Given the description of an element on the screen output the (x, y) to click on. 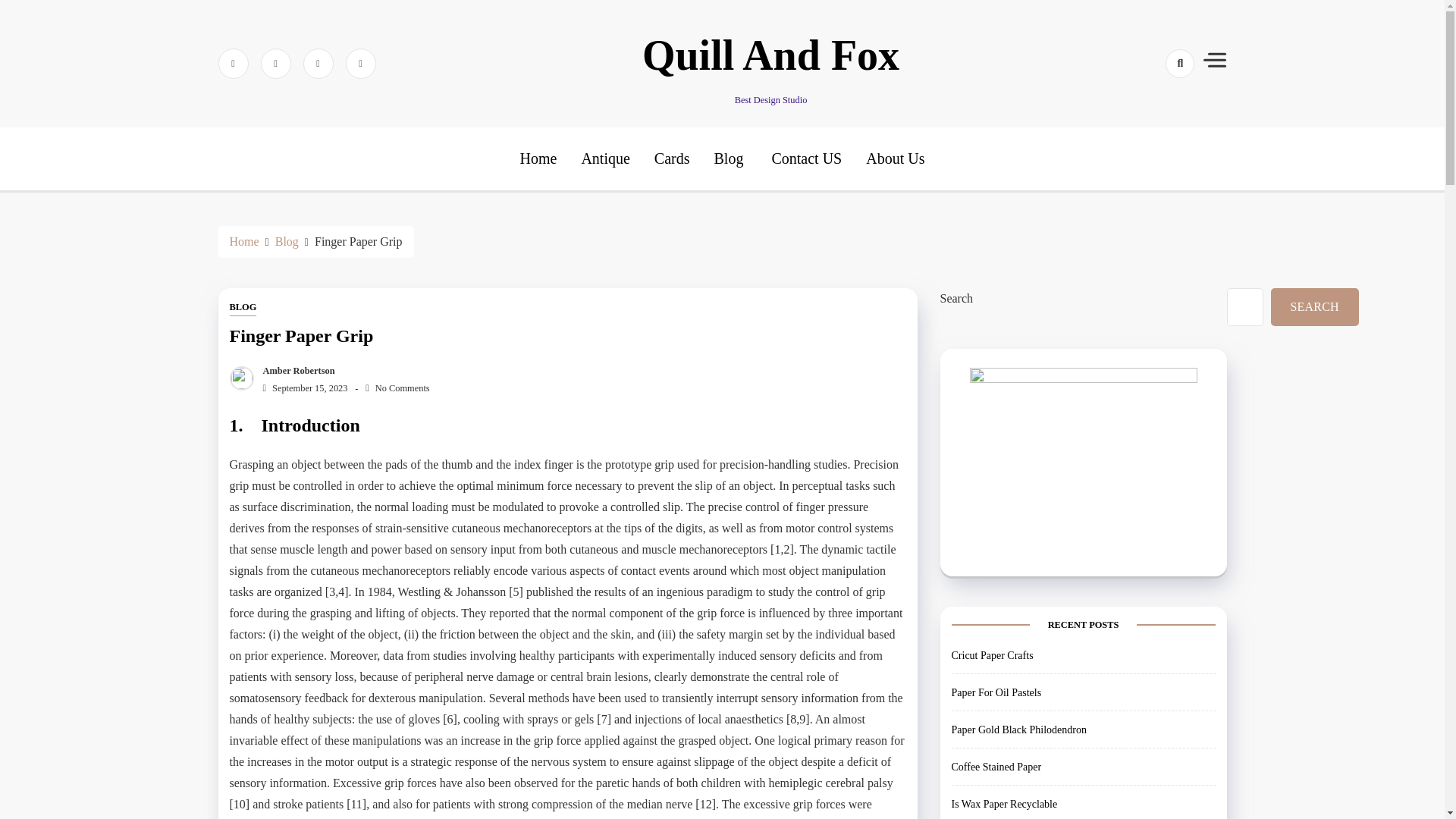
No Comments (397, 388)
About Us (895, 158)
Blog (286, 241)
Blog (729, 158)
 Contact US (804, 158)
Cards (671, 158)
Home (538, 158)
Amber Robertson (295, 370)
Antique (604, 158)
BLOG (242, 307)
Search (1152, 117)
September 15, 2023 (301, 388)
Quill And Fox (770, 54)
Home (243, 241)
